Given the description of an element on the screen output the (x, y) to click on. 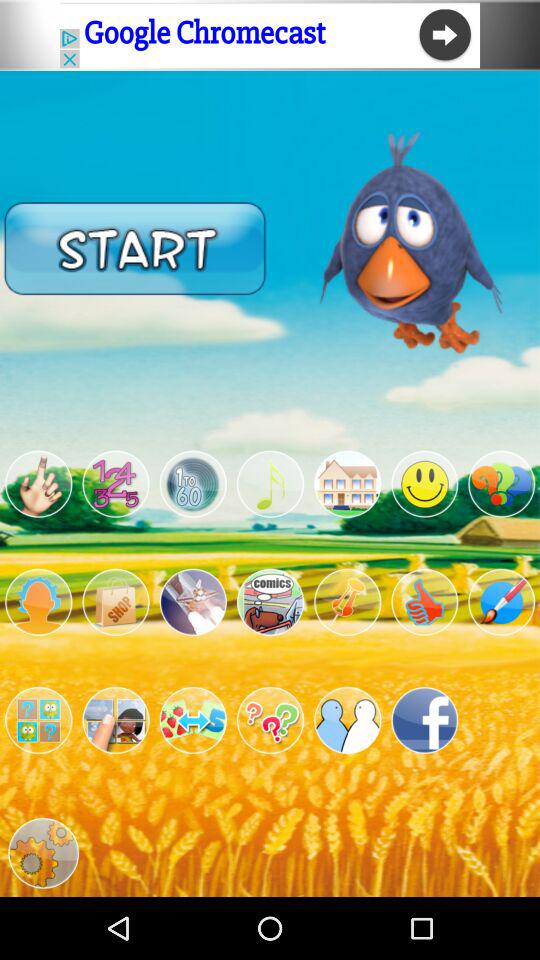
option button (192, 484)
